Given the description of an element on the screen output the (x, y) to click on. 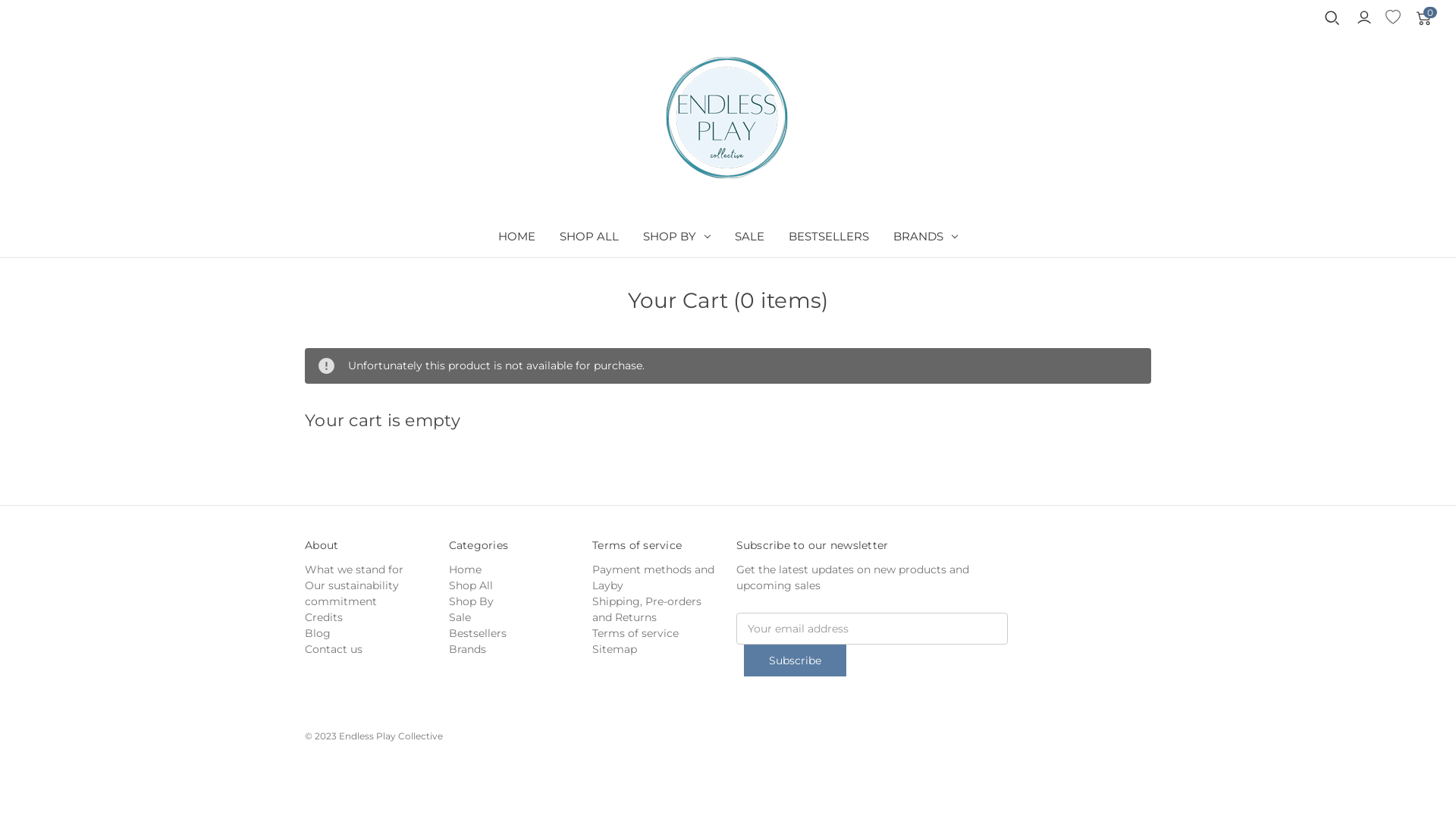
What we stand for Element type: text (353, 569)
SHOP BY Element type: text (676, 238)
Home Element type: text (464, 569)
Payment methods and Layby Element type: text (653, 577)
BESTSELLERS Element type: text (828, 238)
SHOP ALL Element type: text (588, 238)
... endless play collective ... Element type: hover (727, 117)
BRANDS Element type: text (925, 238)
Blog Element type: text (317, 633)
Contact us Element type: text (333, 648)
Brands Element type: text (467, 648)
SEARCH Element type: text (1332, 20)
HOME Element type: text (516, 238)
Subscribe Element type: text (794, 660)
Shipping, Pre-orders and Returns Element type: text (646, 609)
Shop By Element type: text (470, 601)
Sitemap Element type: text (614, 648)
Credits Element type: text (323, 617)
Sale Element type: text (459, 617)
SALE Element type: text (749, 238)
Our sustainability commitment Element type: text (351, 593)
Shop All Element type: text (470, 585)
CART 0 Element type: text (1422, 20)
Bestsellers Element type: text (477, 633)
Terms of service Element type: text (635, 633)
